Given the description of an element on the screen output the (x, y) to click on. 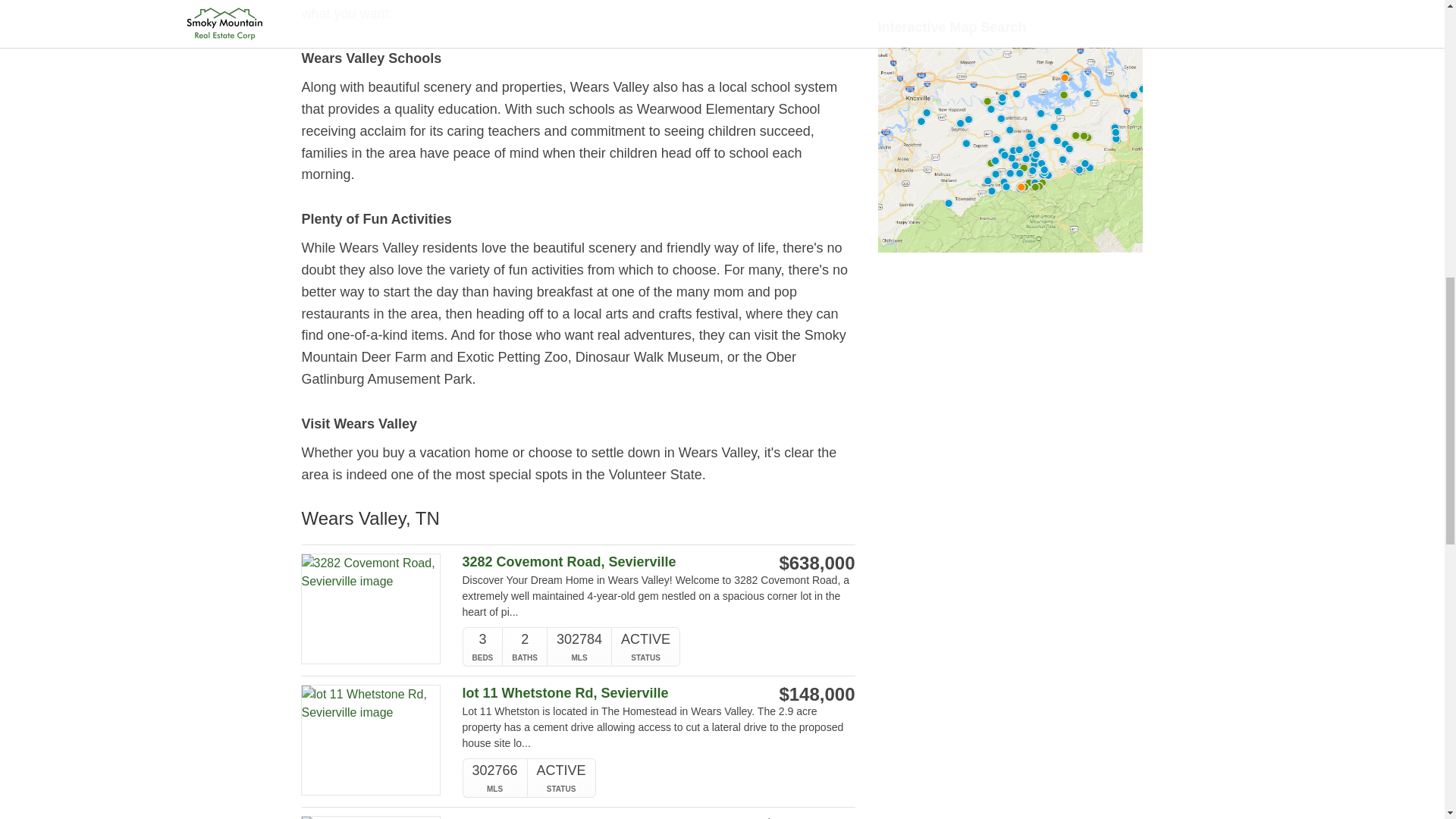
lot 11 Whetstone Rd, Sevierville (600, 693)
Interactive Map Search (1009, 148)
3282 Covemont Road, Sevierville (600, 562)
